Given the description of an element on the screen output the (x, y) to click on. 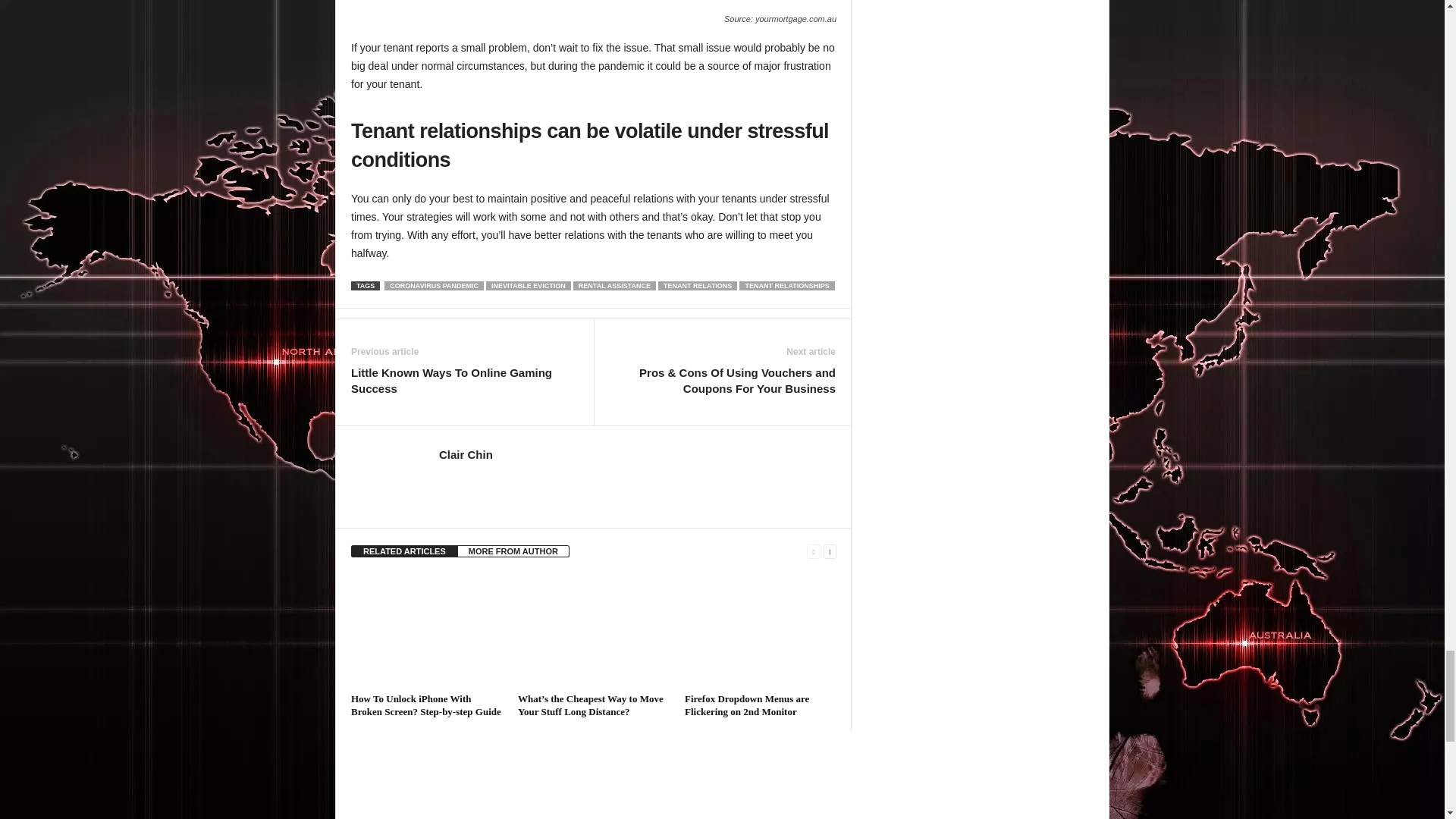
Firefox Dropdown Menus are Flickering on 2nd Monitor (759, 630)
CORONAVIRUS PANDEMIC (433, 285)
How To Unlock iPhone With Broken Screen? Step-by-step Guide (426, 630)
How To Unlock iPhone With Broken Screen? Step-by-step Guide (425, 704)
